Given the description of an element on the screen output the (x, y) to click on. 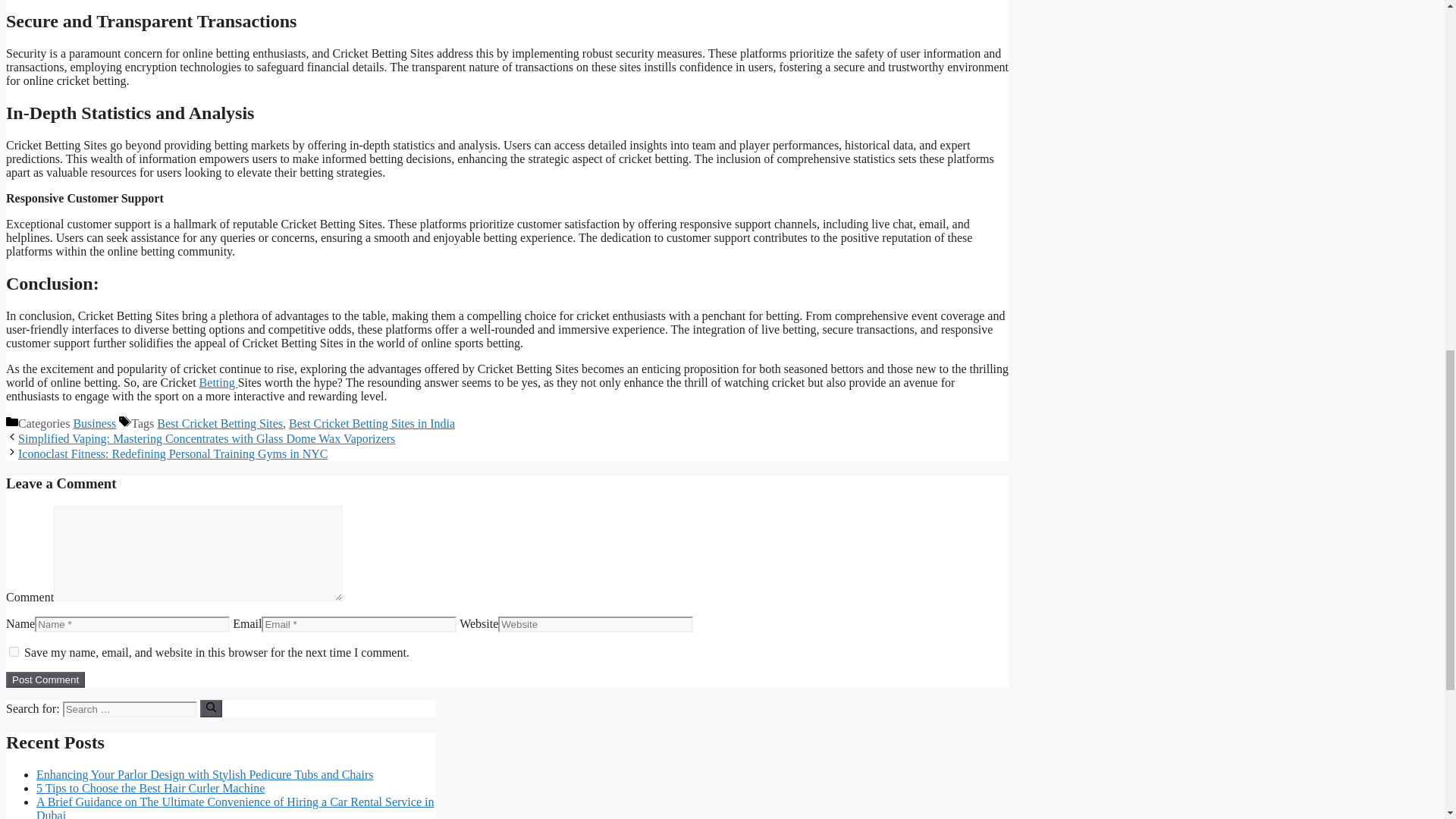
Business (94, 422)
Post Comment (44, 679)
Betting (218, 382)
Best Cricket Betting Sites in India (371, 422)
Best Cricket Betting Sites (219, 422)
Search for: (129, 709)
Iconoclast Fitness: Redefining Personal Training Gyms in NYC (172, 453)
Post Comment (44, 679)
